Given the description of an element on the screen output the (x, y) to click on. 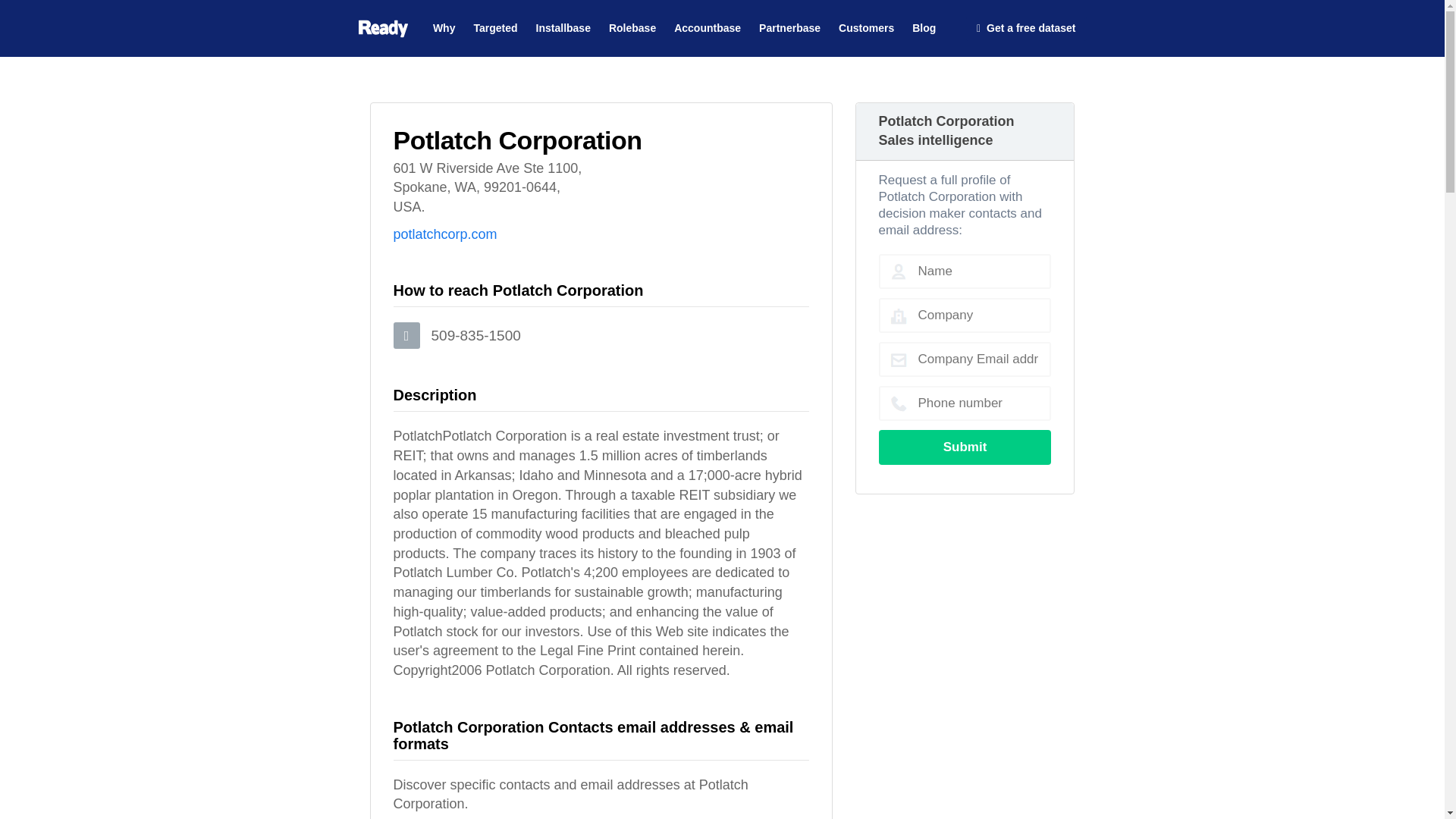
Targeted (494, 22)
potlatchcorp.com (444, 233)
Accountbase (707, 22)
Submit (964, 447)
Partnerbase (789, 22)
Customers (865, 22)
Blog (923, 22)
Get a free dataset (1026, 28)
Rolebase (632, 22)
Submit (964, 447)
Installbase (563, 22)
Why (443, 22)
